Given the description of an element on the screen output the (x, y) to click on. 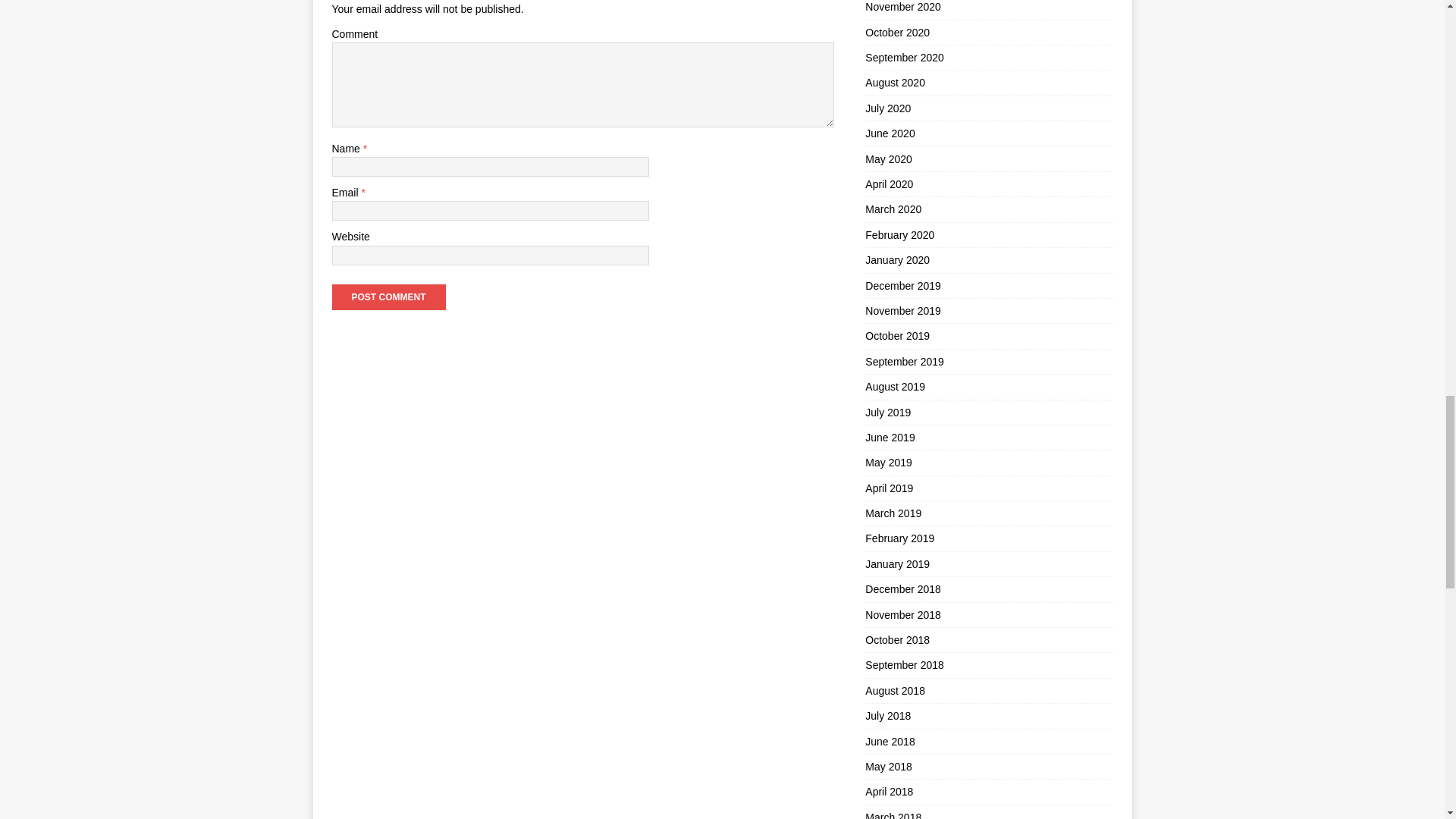
Post Comment (388, 297)
